Given the description of an element on the screen output the (x, y) to click on. 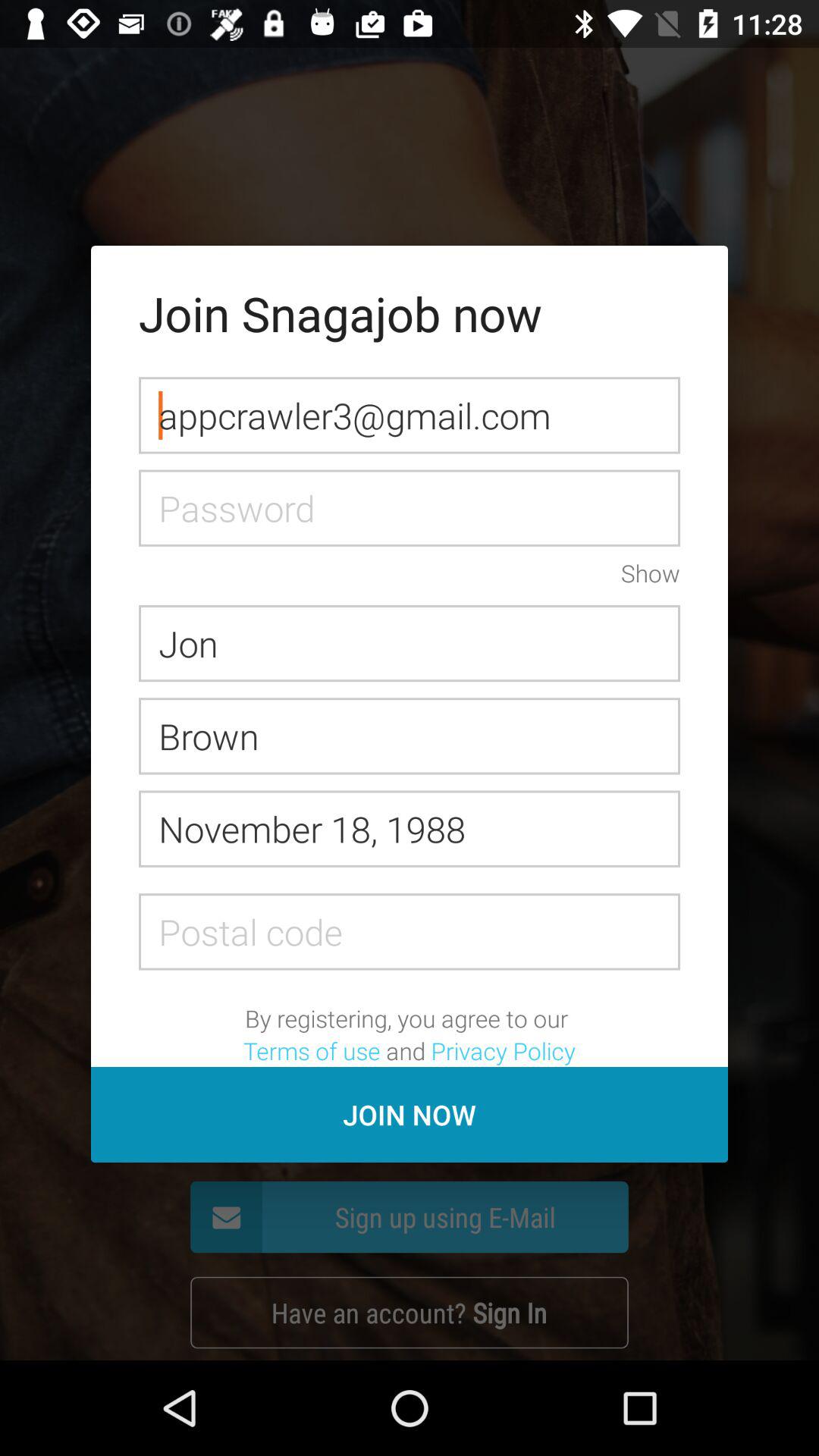
advertisement (409, 931)
